Given the description of an element on the screen output the (x, y) to click on. 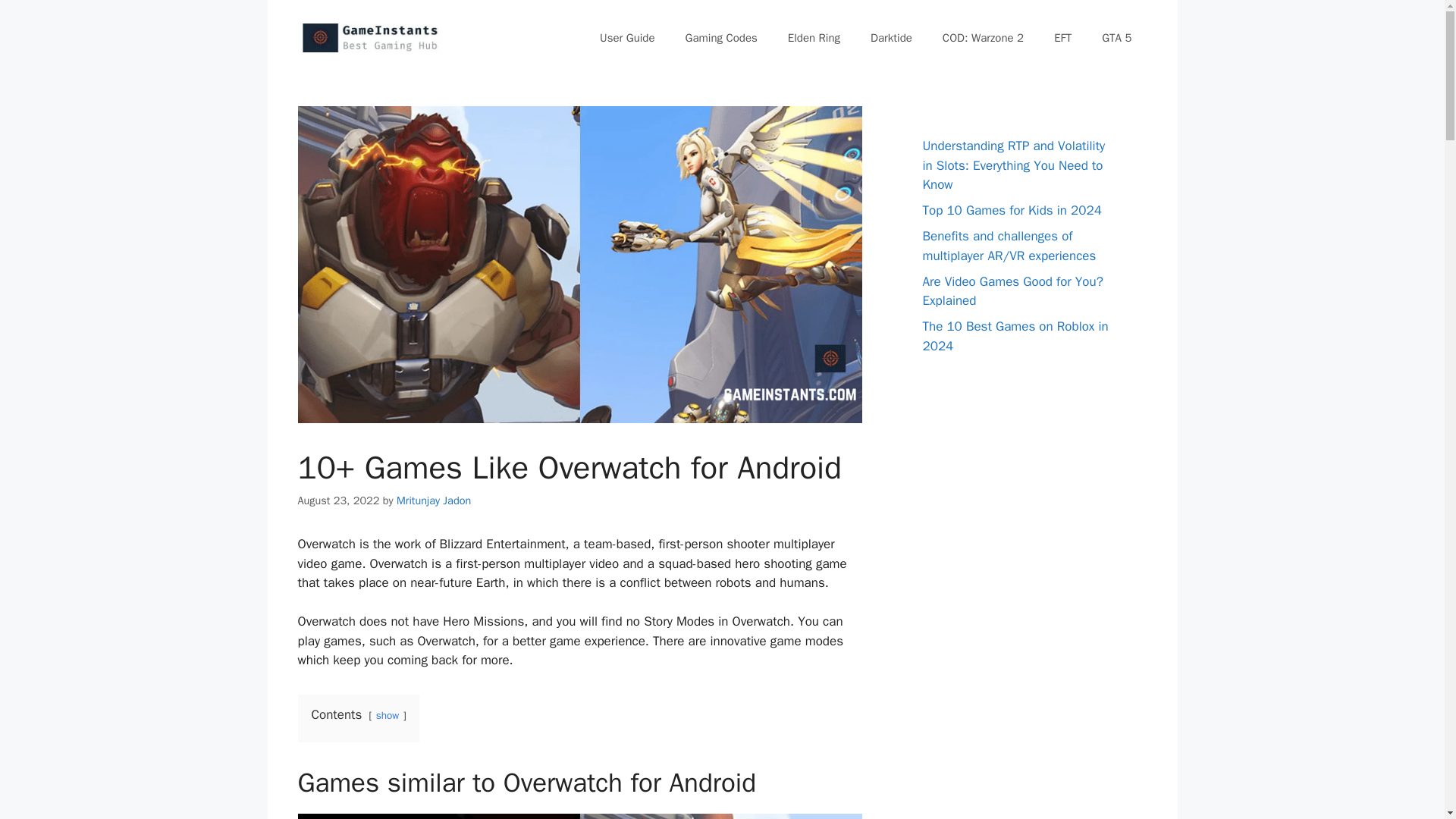
Elden Ring (814, 37)
GTA 5 (1116, 37)
show (386, 715)
Mritunjay Jadon (433, 499)
User Guide (627, 37)
EFT (1062, 37)
COD: Warzone 2 (983, 37)
View all posts by Mritunjay Jadon (433, 499)
Top 10 Games for Kids in 2024 (1010, 210)
Are Video Games Good for You? Explained (1011, 290)
